Given the description of an element on the screen output the (x, y) to click on. 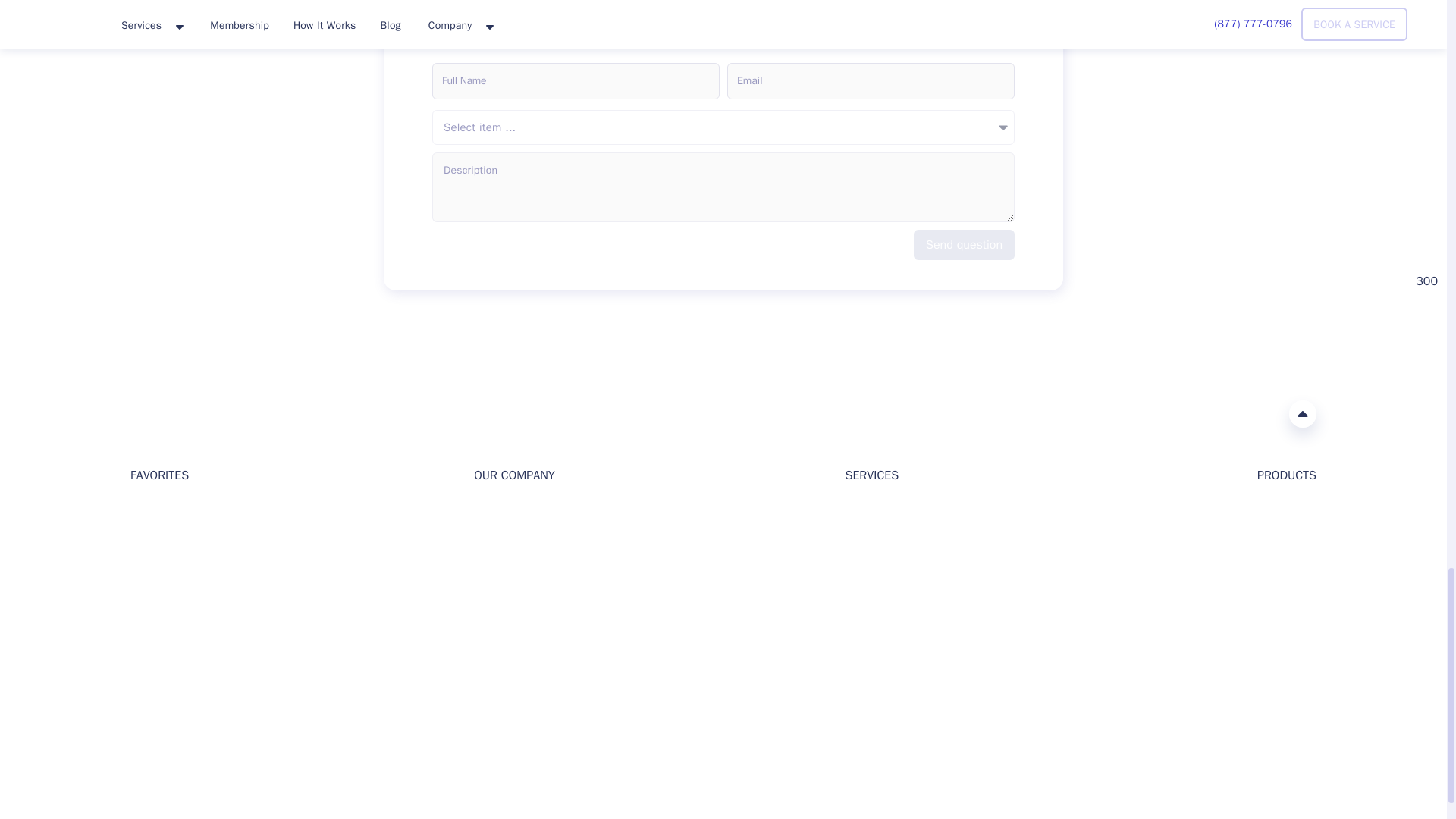
Investors (496, 535)
Membership (160, 608)
HomeAlliance (146, 413)
Send question (964, 245)
Locations (154, 584)
About Us (496, 512)
How It Works (506, 560)
Blog (141, 535)
Welcome (152, 512)
Select item ... (723, 126)
Home Alliance Support (139, 714)
